Given the description of an element on the screen output the (x, y) to click on. 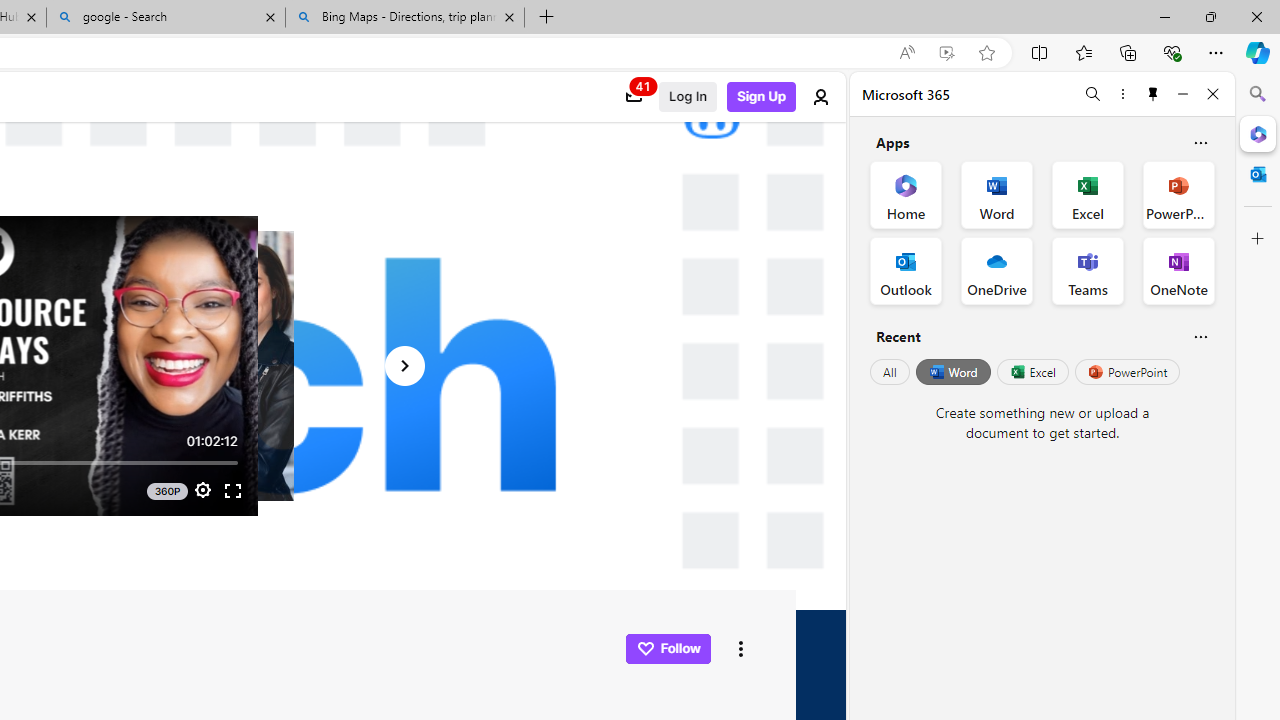
Go to Next Video (404, 365)
Log In (688, 97)
PowerPoint Office App (1178, 194)
Is this helpful? (1200, 336)
Enhance video (946, 53)
Excel (1031, 372)
OneNote Office App (1178, 270)
All (890, 372)
